Given the description of an element on the screen output the (x, y) to click on. 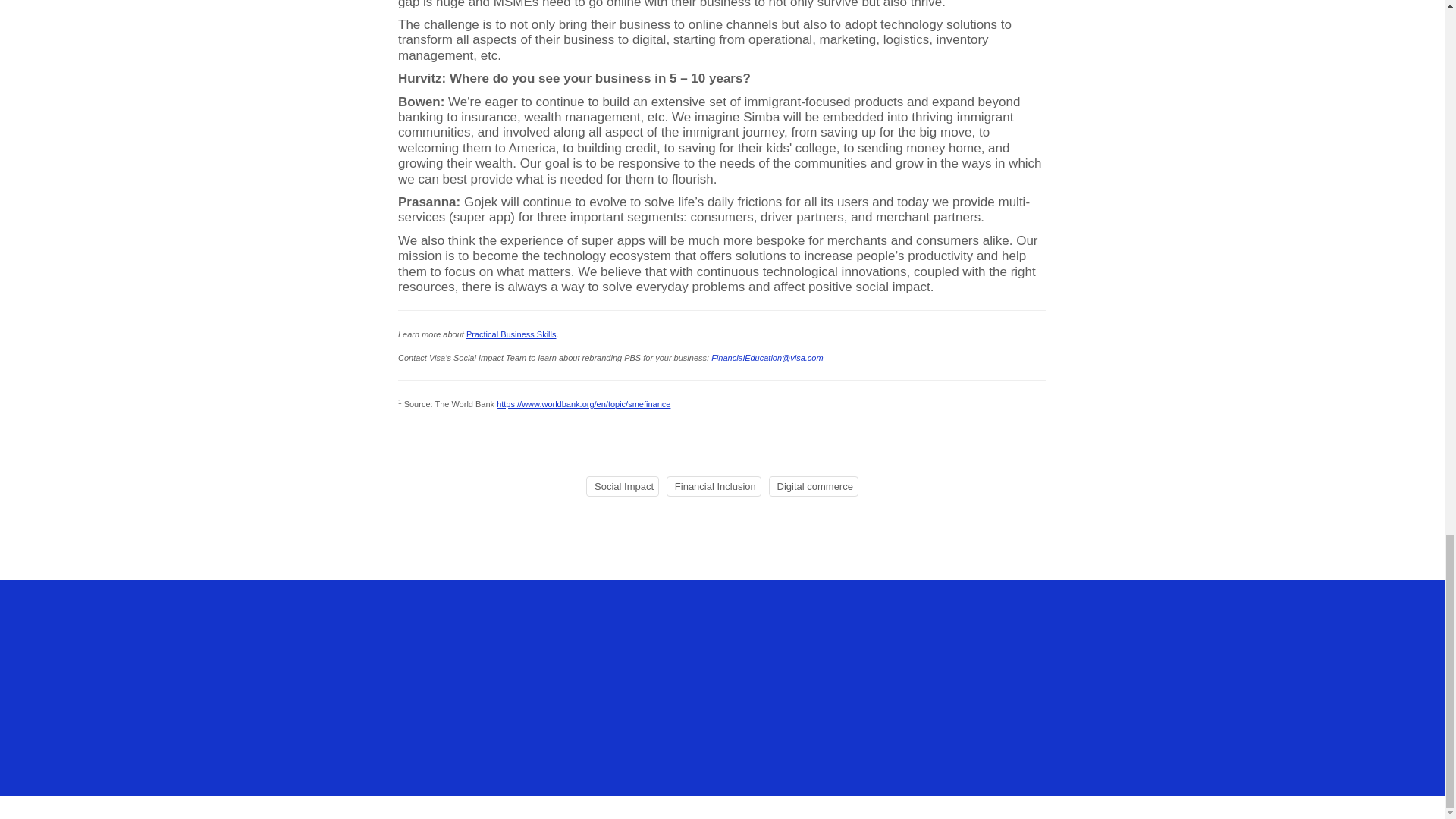
Practical Business Skills (510, 334)
